Given the description of an element on the screen output the (x, y) to click on. 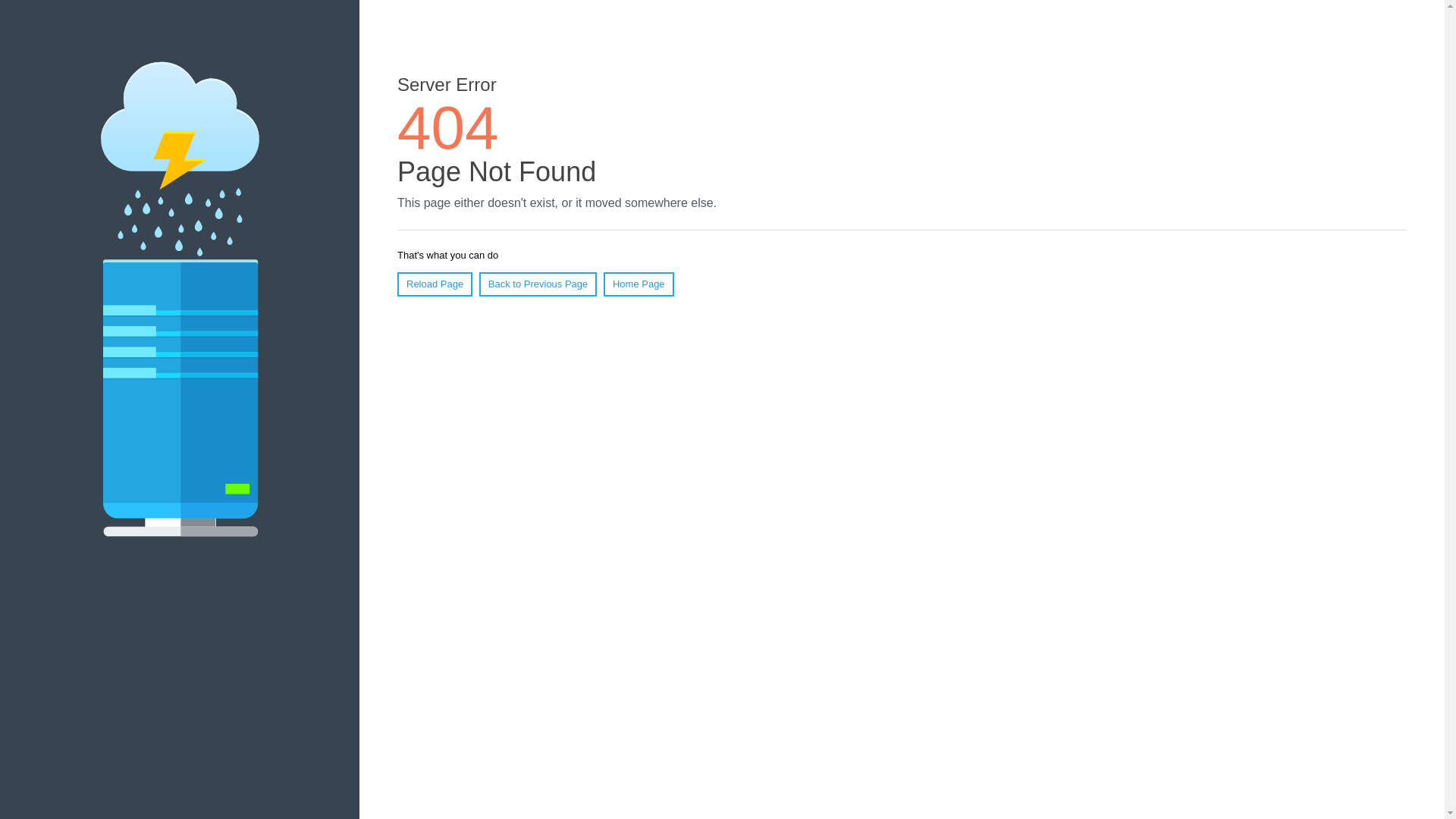
Reload Page Element type: text (434, 284)
Back to Previous Page Element type: text (538, 284)
Home Page Element type: text (638, 284)
